Given the description of an element on the screen output the (x, y) to click on. 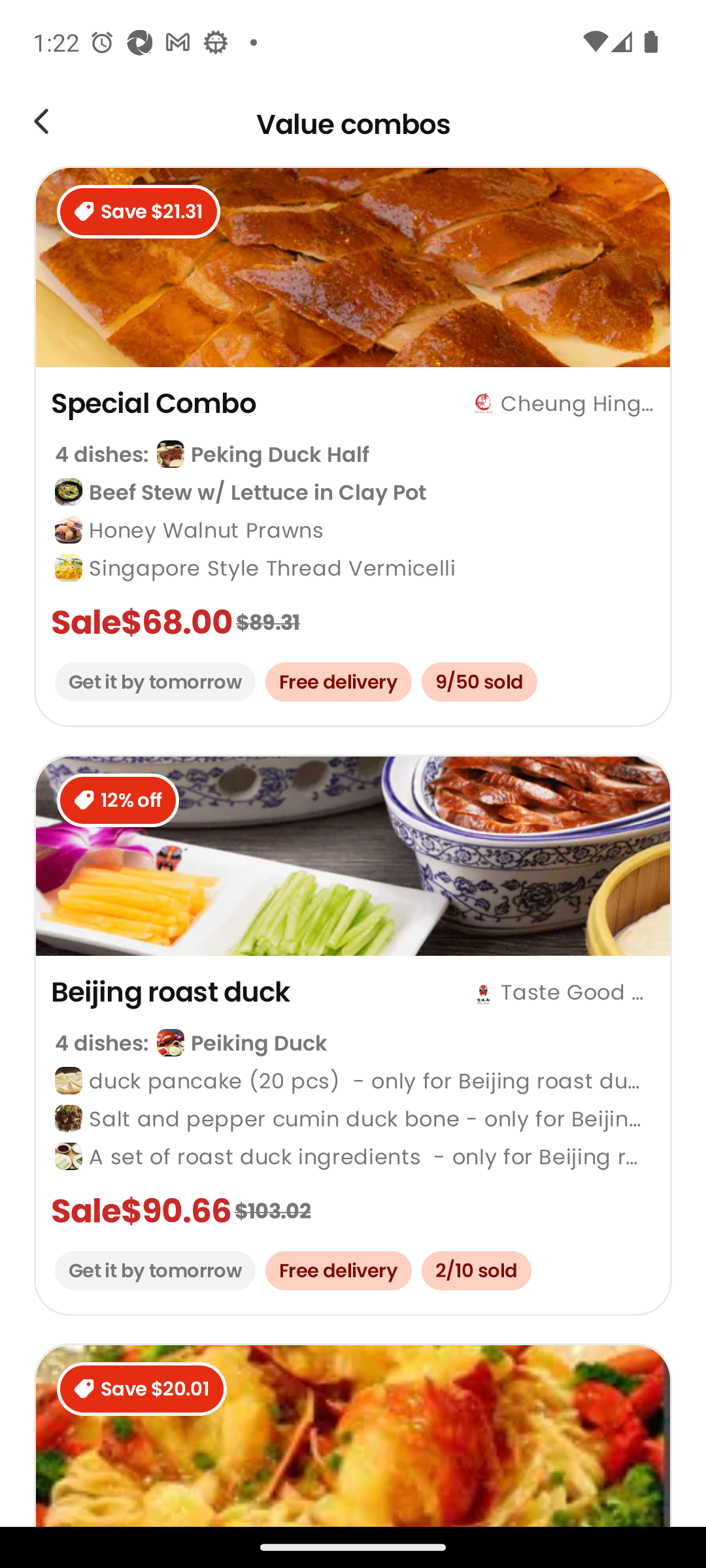
Image (41, 124)
